Given the description of an element on the screen output the (x, y) to click on. 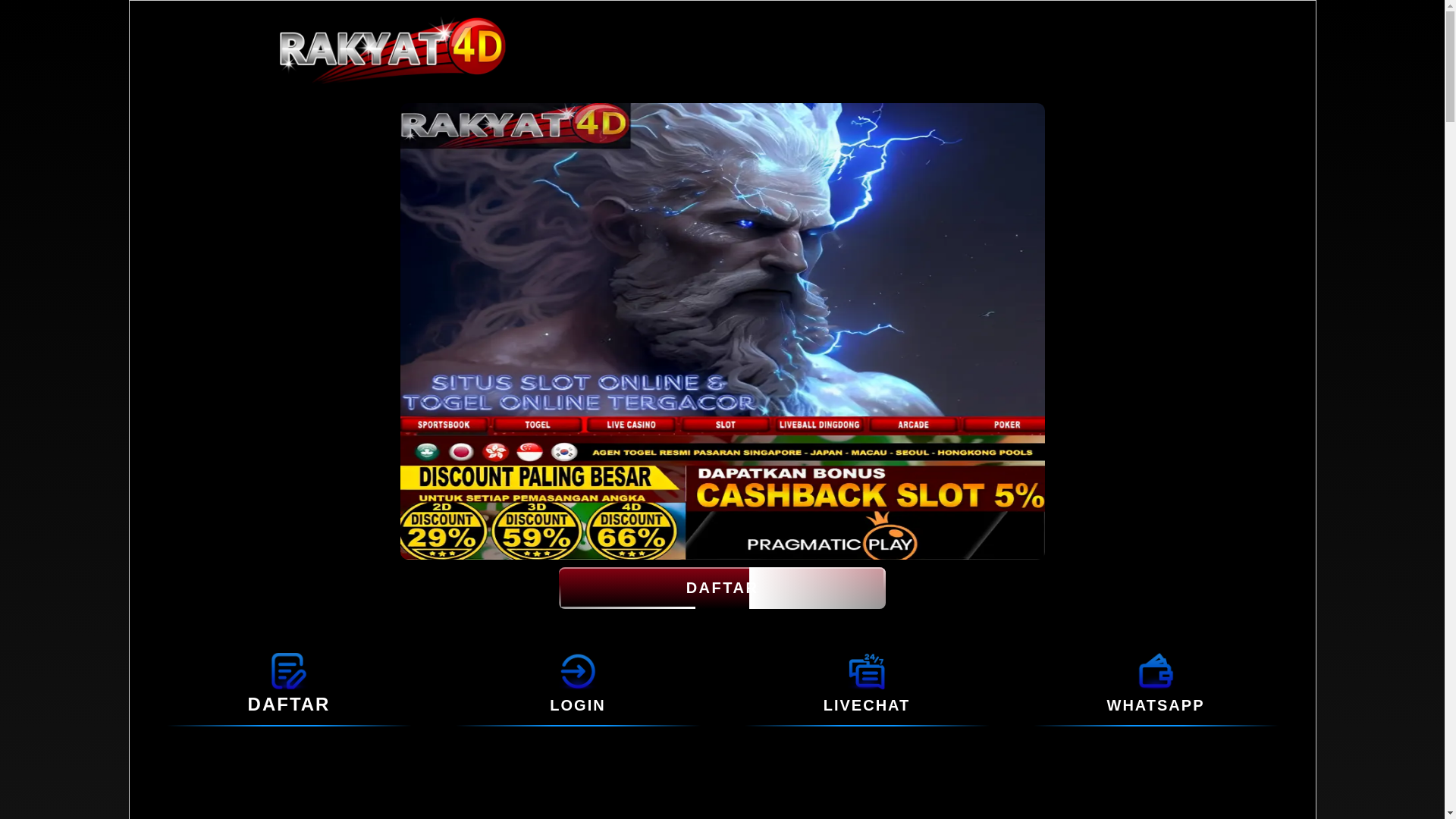
LOGIN (577, 670)
WHATSAPP (1155, 704)
LOGIN (577, 704)
LIVECHAT (866, 670)
DAFTAR (288, 670)
DAFTAR (722, 588)
WHATSAPP (1155, 670)
LIVECHAT (867, 704)
